Given the description of an element on the screen output the (x, y) to click on. 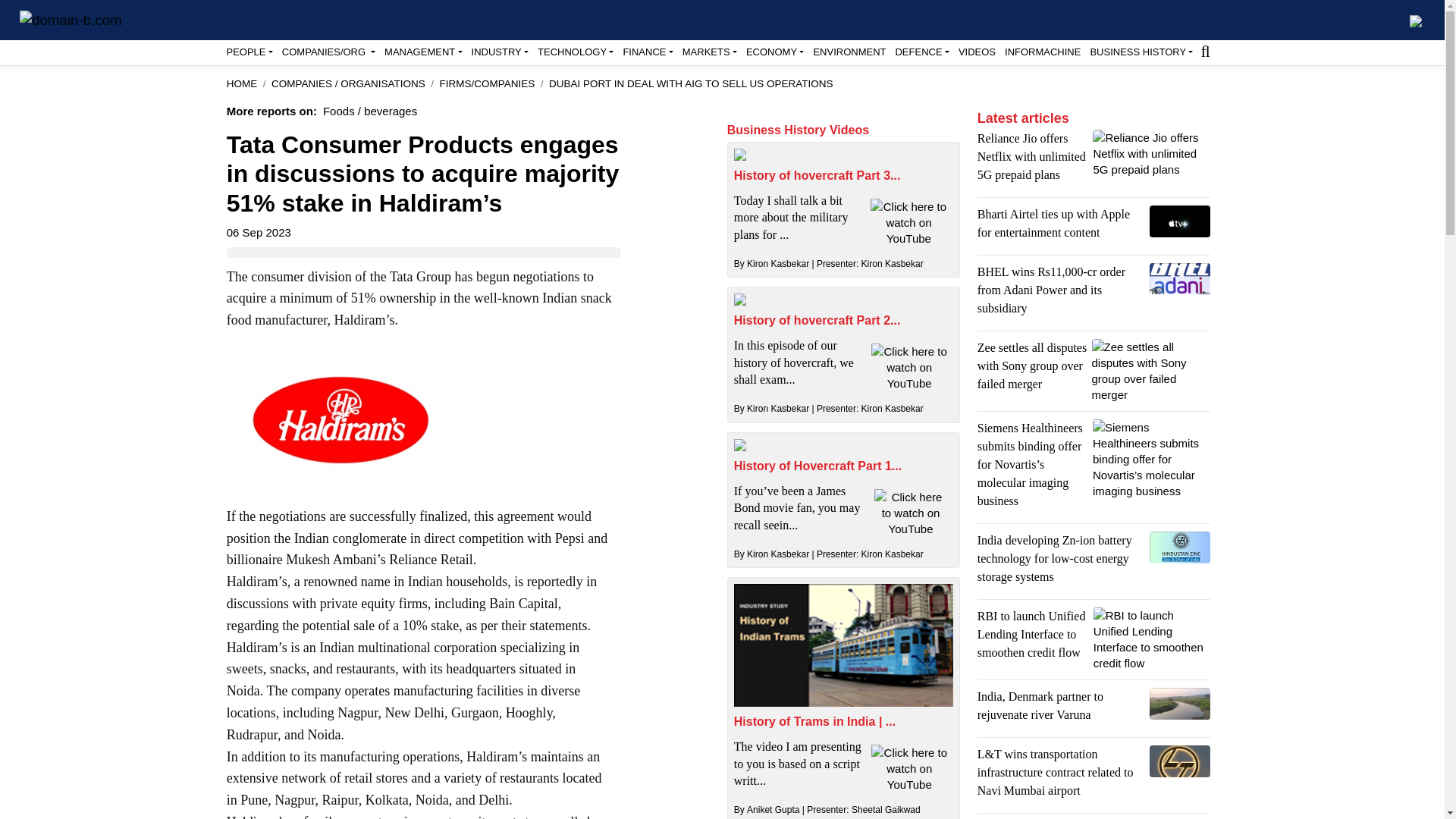
Click here to watch on YouTube (908, 768)
PEOPLE (248, 52)
Click here to watch on YouTube (911, 512)
Click here to watch on YouTube (908, 222)
Click here to watch on YouTube (908, 367)
Zee settles all disputes with Sony group over failed merger (1151, 370)
Reliance Jio offers Netflix with unlimited 5G prepaid plans (1151, 153)
